Given the description of an element on the screen output the (x, y) to click on. 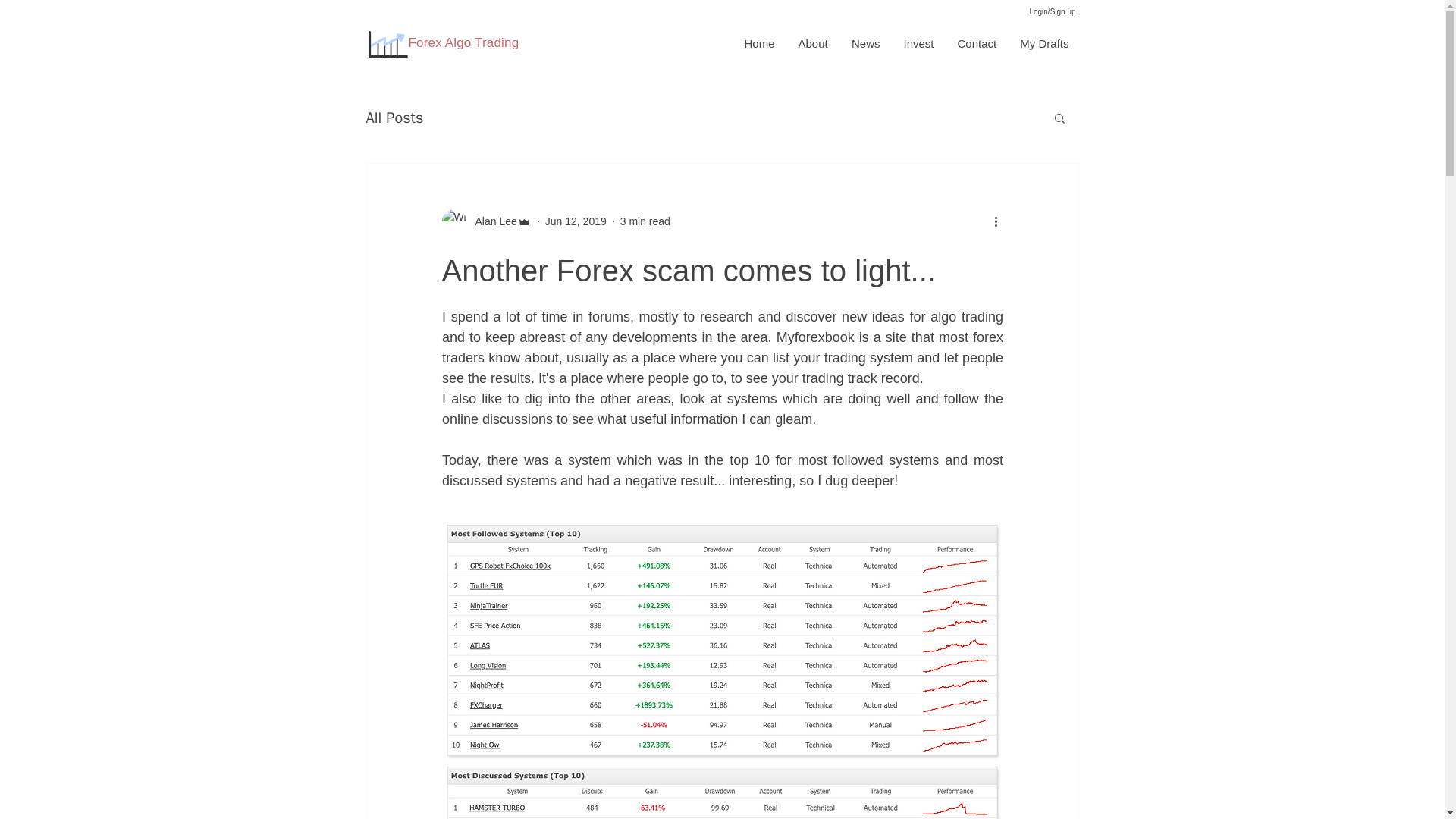
Alan Lee (490, 221)
Jun 12, 2019 (575, 221)
Contact (975, 44)
All Posts (394, 117)
About (812, 44)
News (864, 44)
3 min read (644, 221)
My Drafts (1043, 44)
Home (759, 44)
Forex Algo Trading (462, 42)
Alan Lee (486, 221)
Invest (917, 44)
